Given the description of an element on the screen output the (x, y) to click on. 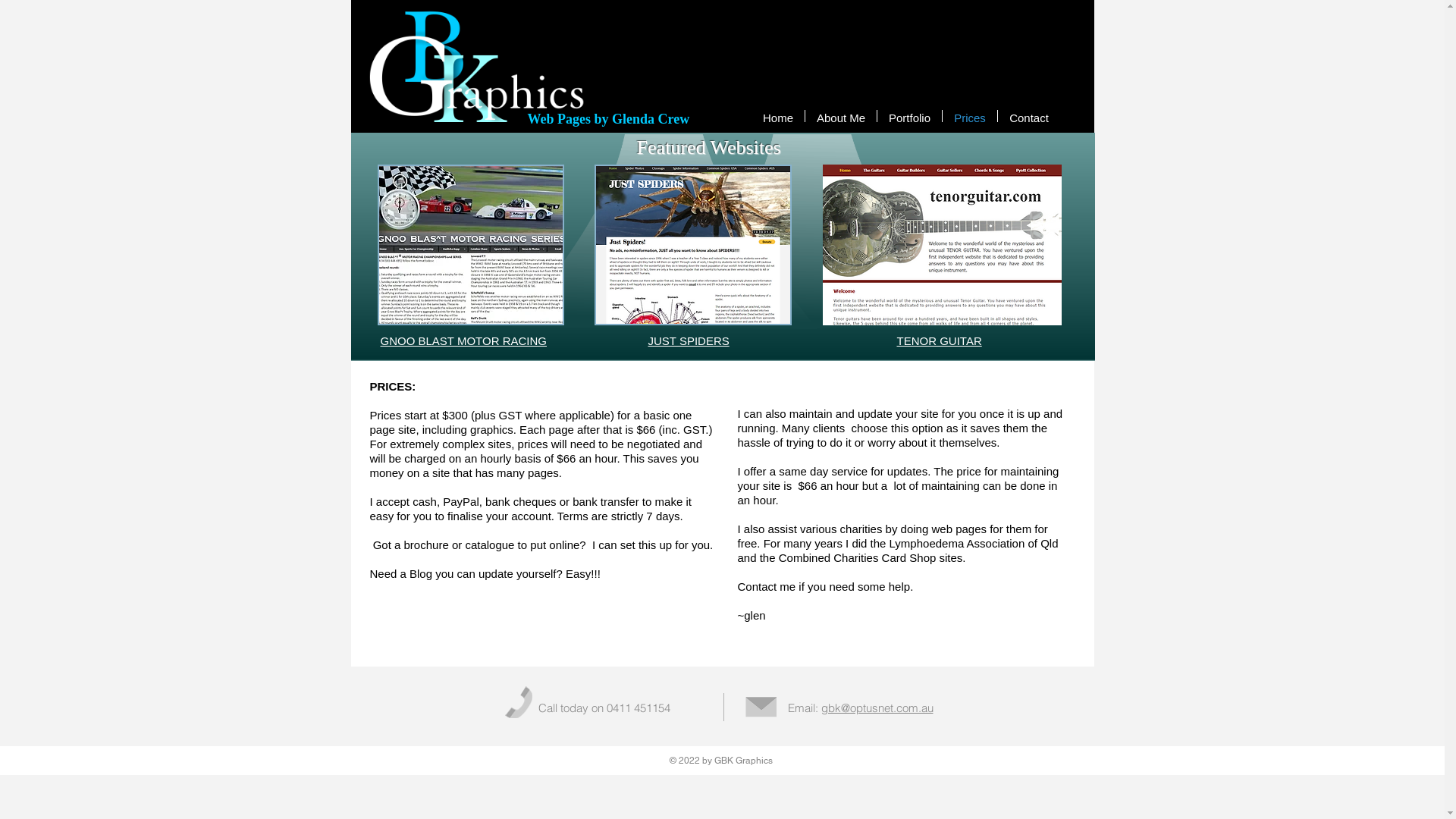
gbk16.gif Element type: hover (476, 65)
Contact Element type: text (1028, 115)
Prices Element type: text (969, 115)
TENOR GUITAR Element type: text (938, 340)
GNOO BLAST MOTOR RACING Element type: text (463, 340)
gbk@optusnet.com.au Element type: text (876, 707)
gnooblast16.JPG Element type: hover (470, 244)
spiderz16.JPG Element type: hover (692, 244)
Portfolio Element type: text (909, 115)
JUST SPIDERS Element type: text (687, 340)
bg.gif Element type: hover (722, 246)
About Me Element type: text (840, 115)
Home Element type: text (777, 115)
